Given the description of an element on the screen output the (x, y) to click on. 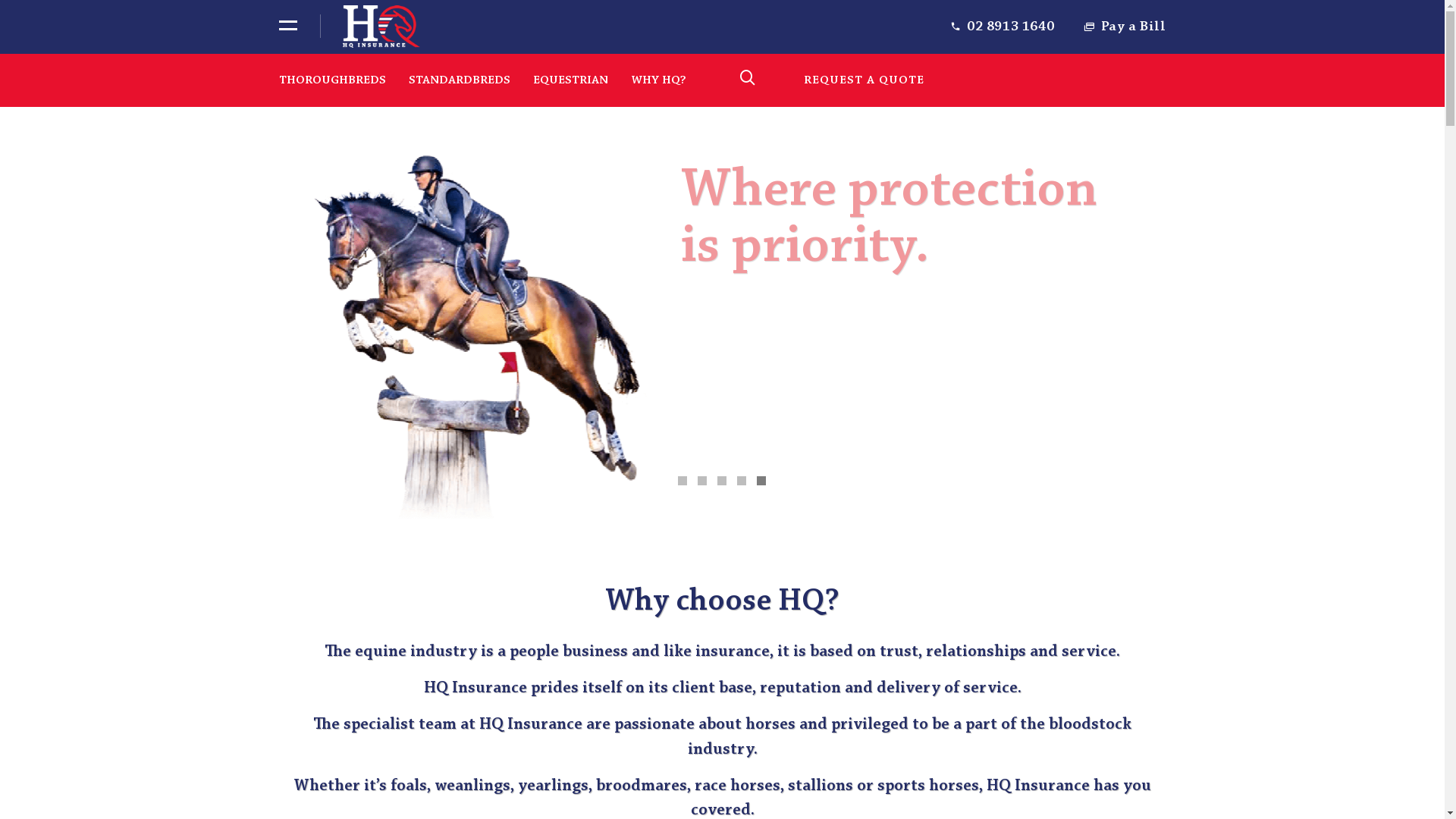
STANDARDBREDS Element type: text (458, 79)
true Element type: text (296, 79)
EQUESTRIAN Element type: text (569, 79)
02 8913 1640 Element type: text (1010, 26)
THOROUGHBREDS Element type: text (332, 79)
Pay a Bill Element type: text (1133, 26)
WHY HQ? Element type: text (658, 79)
REQUEST A QUOTE Element type: text (864, 79)
